Given the description of an element on the screen output the (x, y) to click on. 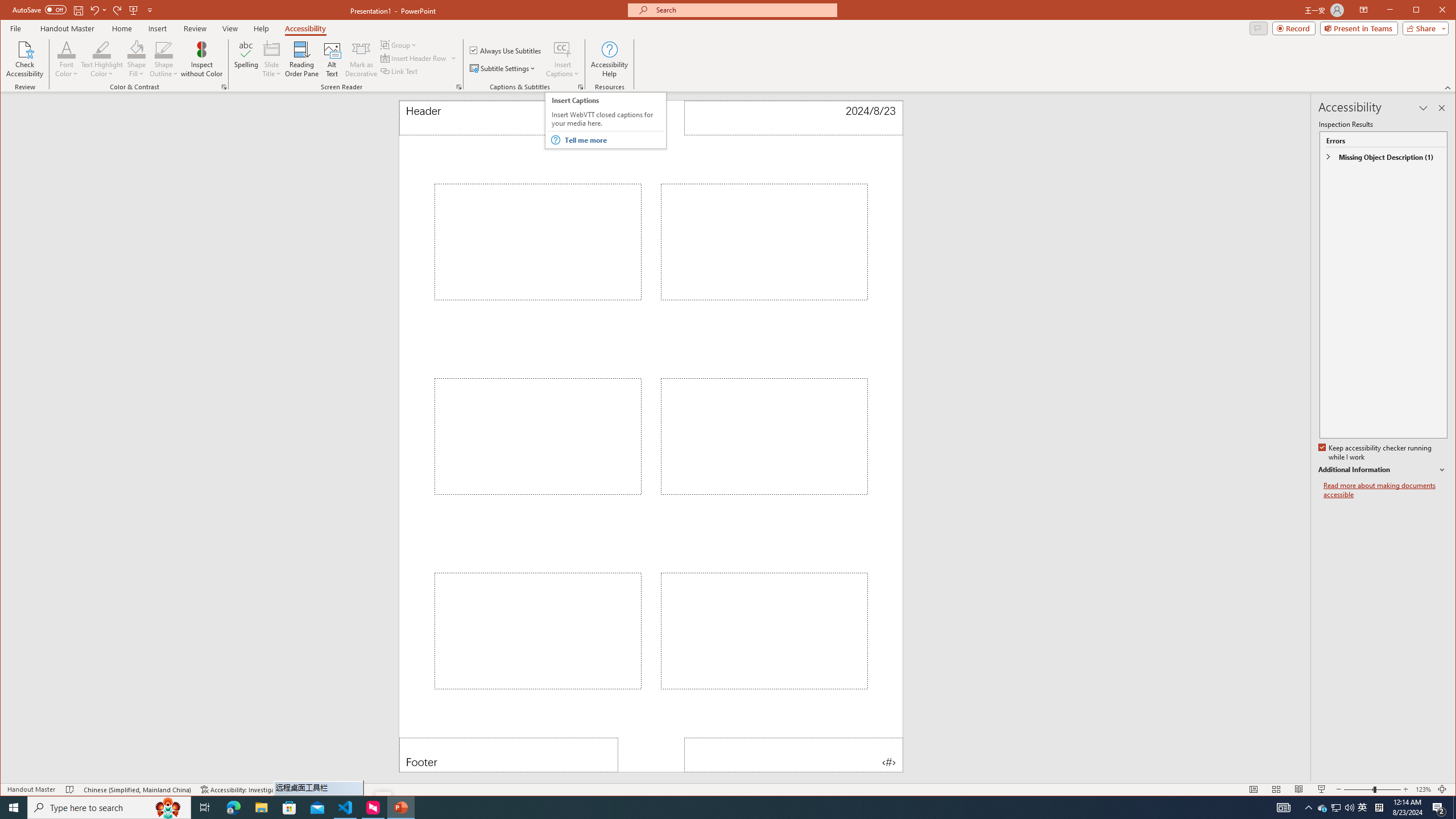
Tell me more (613, 139)
Color & Contrast (223, 86)
Captions & Subtitles (580, 86)
Header (508, 117)
Reading Order Pane (301, 59)
Always Use Subtitles (505, 49)
Spelling... (246, 59)
